Given the description of an element on the screen output the (x, y) to click on. 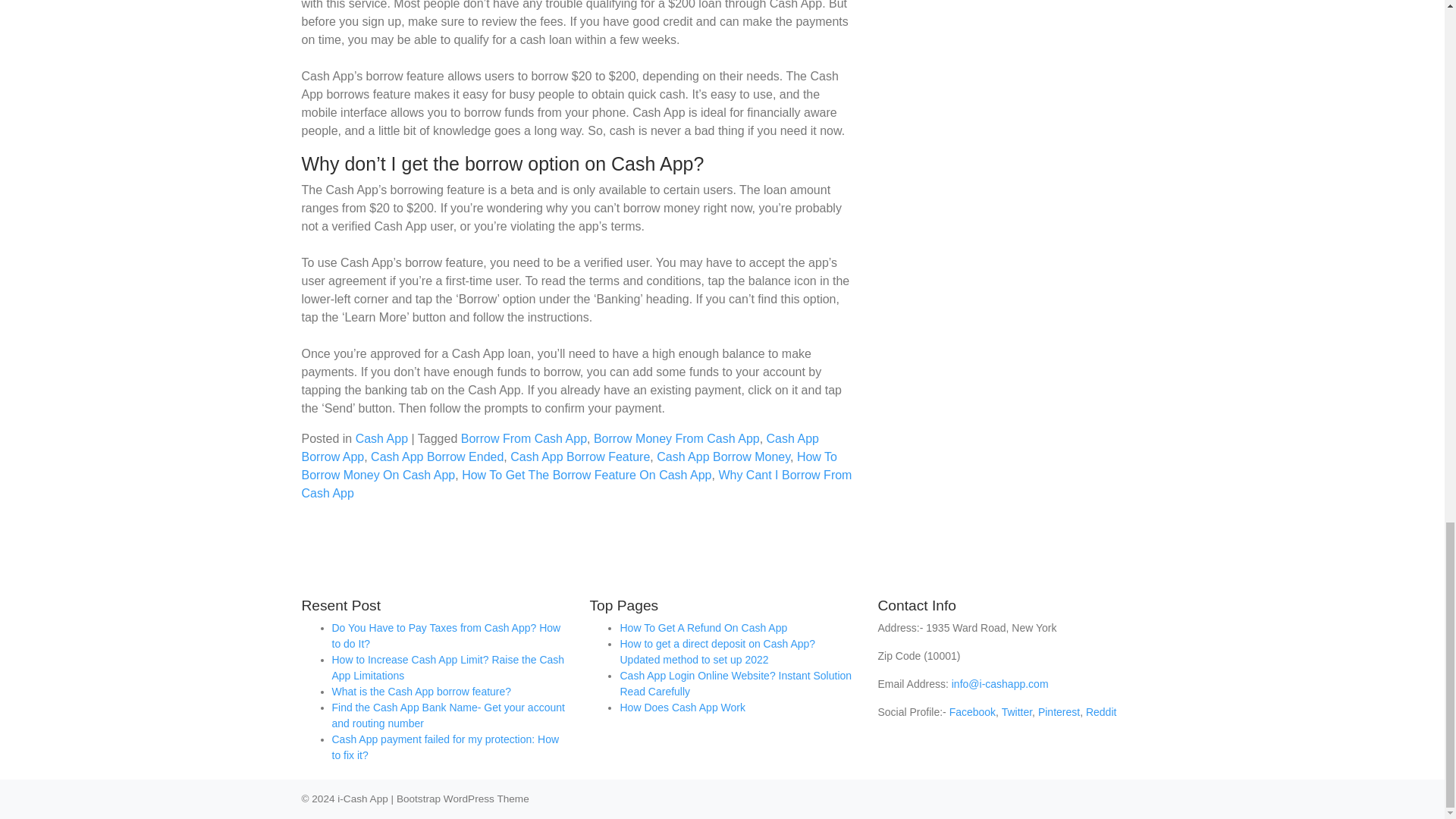
Cash App Borrow Feature (580, 456)
How To Get The Borrow Feature On Cash App (586, 474)
Borrow From Cash App (523, 438)
Cash App Borrow App (559, 447)
Cash App Borrow Money (723, 456)
Borrow Money From Cash App (677, 438)
Why Cant I Borrow From Cash App (576, 483)
Cash App Borrow Ended (437, 456)
How To Borrow Money On Cash App (569, 465)
Cash App (381, 438)
